Given the description of an element on the screen output the (x, y) to click on. 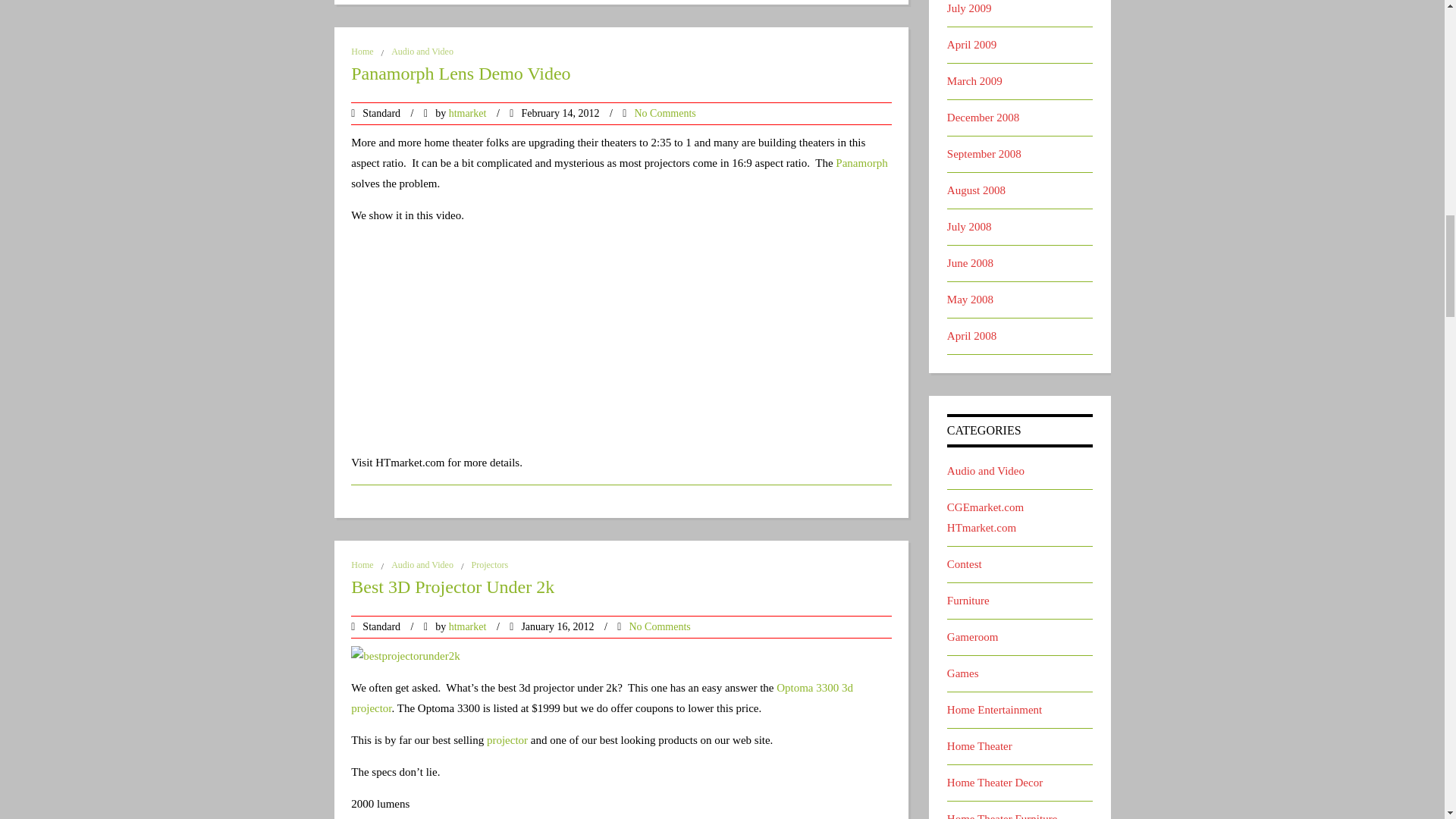
Panamorph Lens Demo Video (620, 78)
Audio and Video (421, 50)
Home (361, 50)
No Comments (664, 112)
Posts by htmarket (467, 626)
htmarket (467, 112)
Posts by htmarket (467, 112)
